Given the description of an element on the screen output the (x, y) to click on. 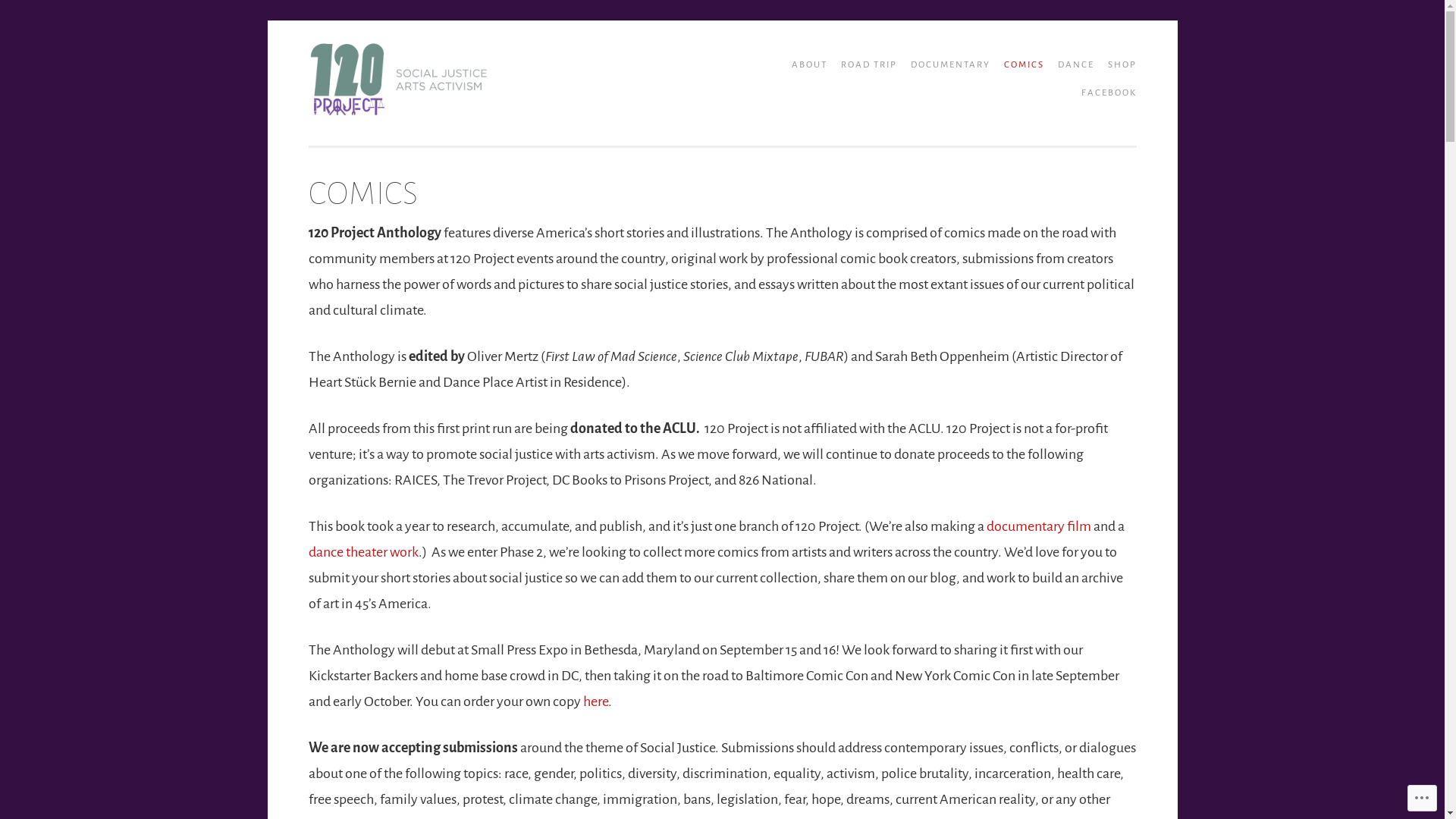
COMICS Element type: text (1018, 64)
DOCUMENTARY Element type: text (944, 64)
SHOP Element type: text (1115, 64)
DANCE Element type: text (1069, 64)
FACEBOOK Element type: text (1103, 92)
ROAD TRIP Element type: text (862, 64)
ABOUT Element type: text (804, 64)
here. Element type: text (596, 701)
documentary film Element type: text (1038, 525)
dance theater work Element type: text (362, 551)
